Given the description of an element on the screen output the (x, y) to click on. 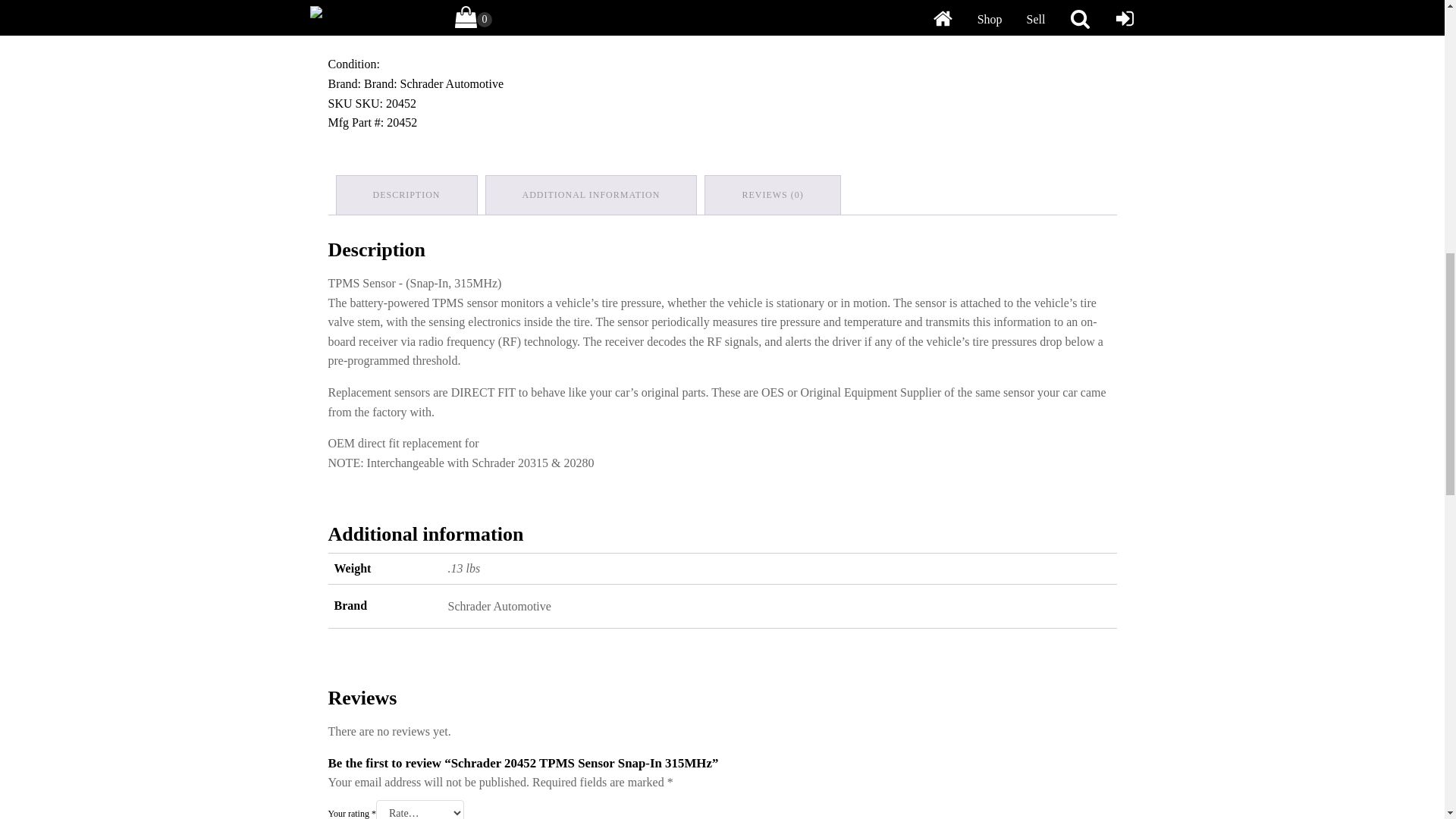
ADDITIONAL INFORMATION (591, 195)
DESCRIPTION (406, 195)
